Given the description of an element on the screen output the (x, y) to click on. 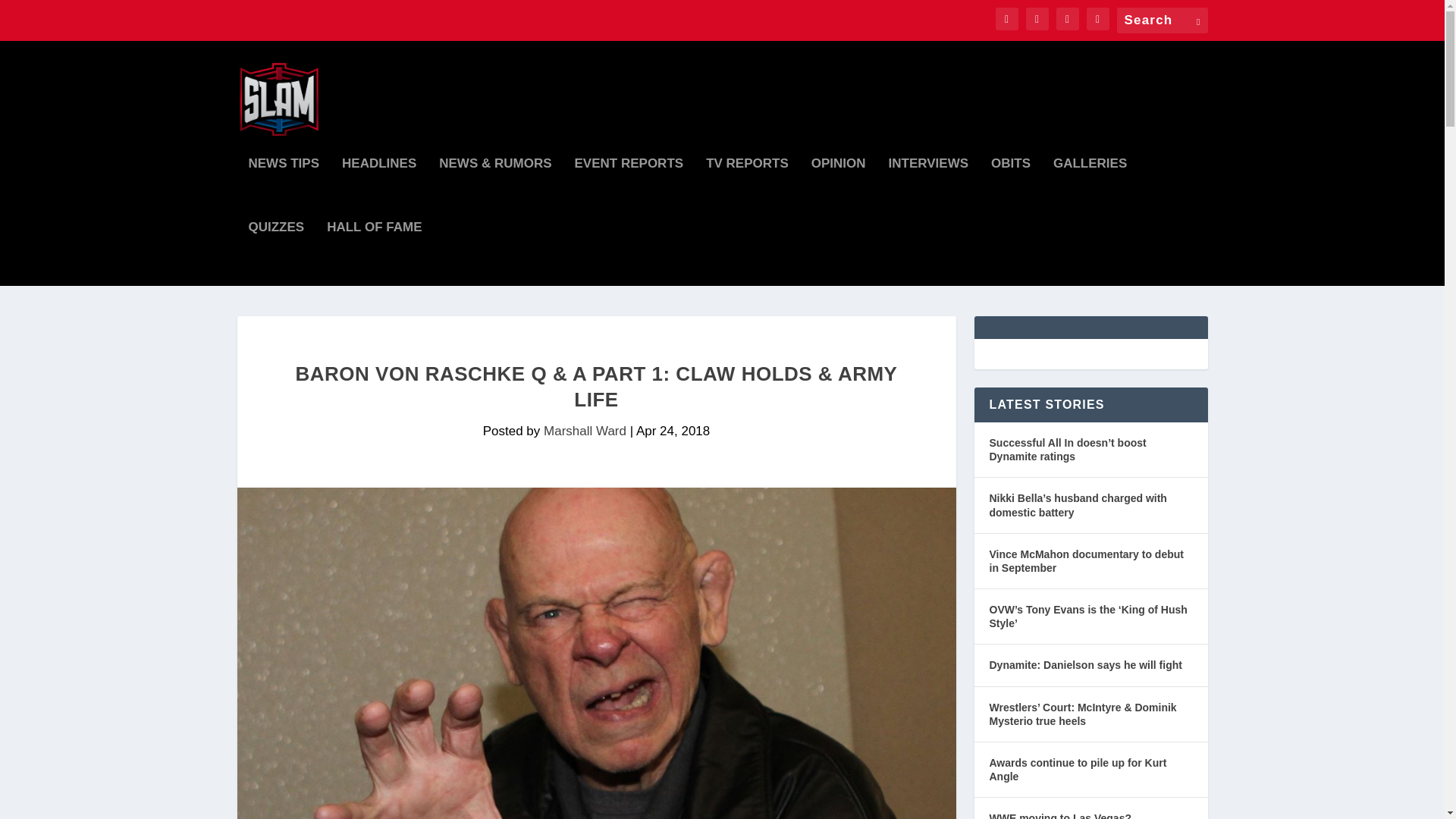
EVENT REPORTS (629, 189)
Posts by Marshall Ward (584, 431)
INTERVIEWS (928, 189)
HEADLINES (379, 189)
NEWS TIPS (284, 189)
Search for: (1161, 20)
Marshall Ward (584, 431)
HALL OF FAME (374, 253)
GALLERIES (1089, 189)
TV REPORTS (747, 189)
